Given the description of an element on the screen output the (x, y) to click on. 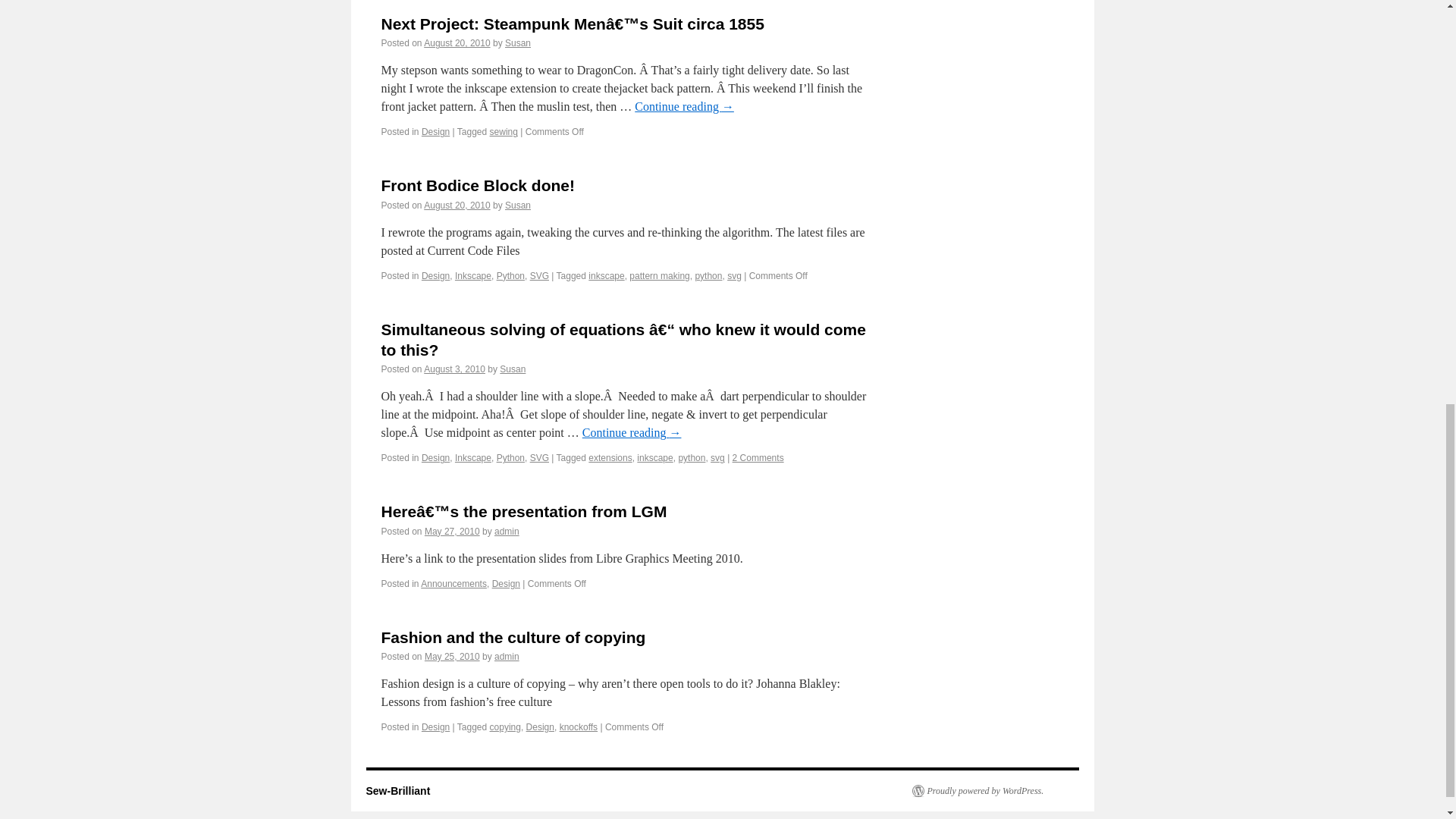
6:10 pm (456, 204)
August 20, 2010 (456, 42)
7:14 pm (456, 42)
View all posts by Susan (518, 42)
Susan (518, 42)
Permalink to Front Bodice Block done! (477, 185)
